Given the description of an element on the screen output the (x, y) to click on. 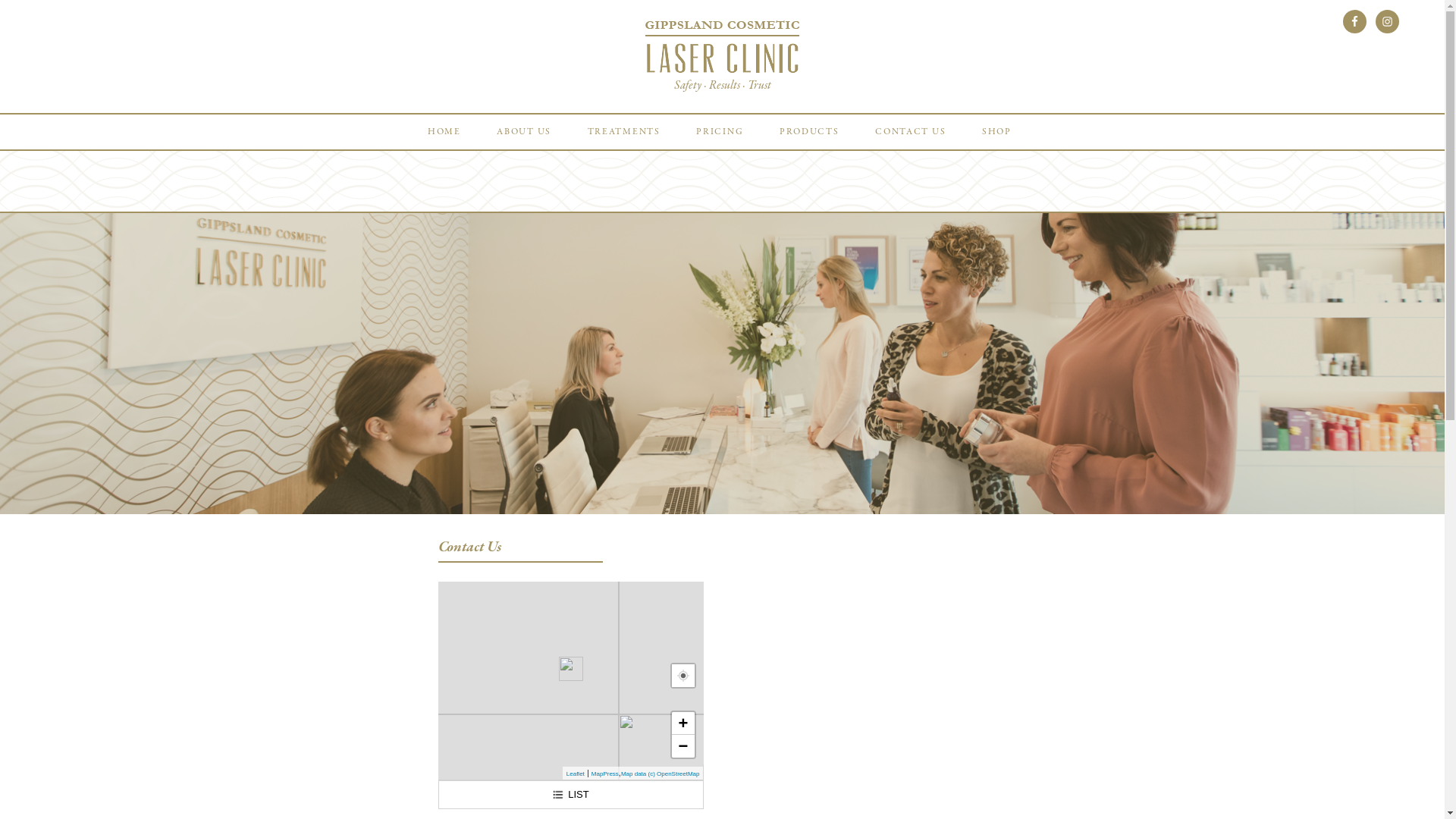
Your Location Element type: hover (682, 675)
SHOP Element type: text (996, 131)
HOME Element type: text (444, 131)
Gippsland Cosmetic Laser Clinic Element type: text (721, 46)
Map data (c) OpenStreetMap Element type: text (660, 773)
MapPress Element type: text (604, 773)
CONTACT US Element type: text (910, 131)
PRICING Element type: text (719, 131)
Leaflet Element type: text (575, 773)
+ Element type: text (682, 723)
TREATMENTS Element type: text (624, 131)
PRODUCTS Element type: text (809, 131)
ABOUT US Element type: text (523, 131)
